Given the description of an element on the screen output the (x, y) to click on. 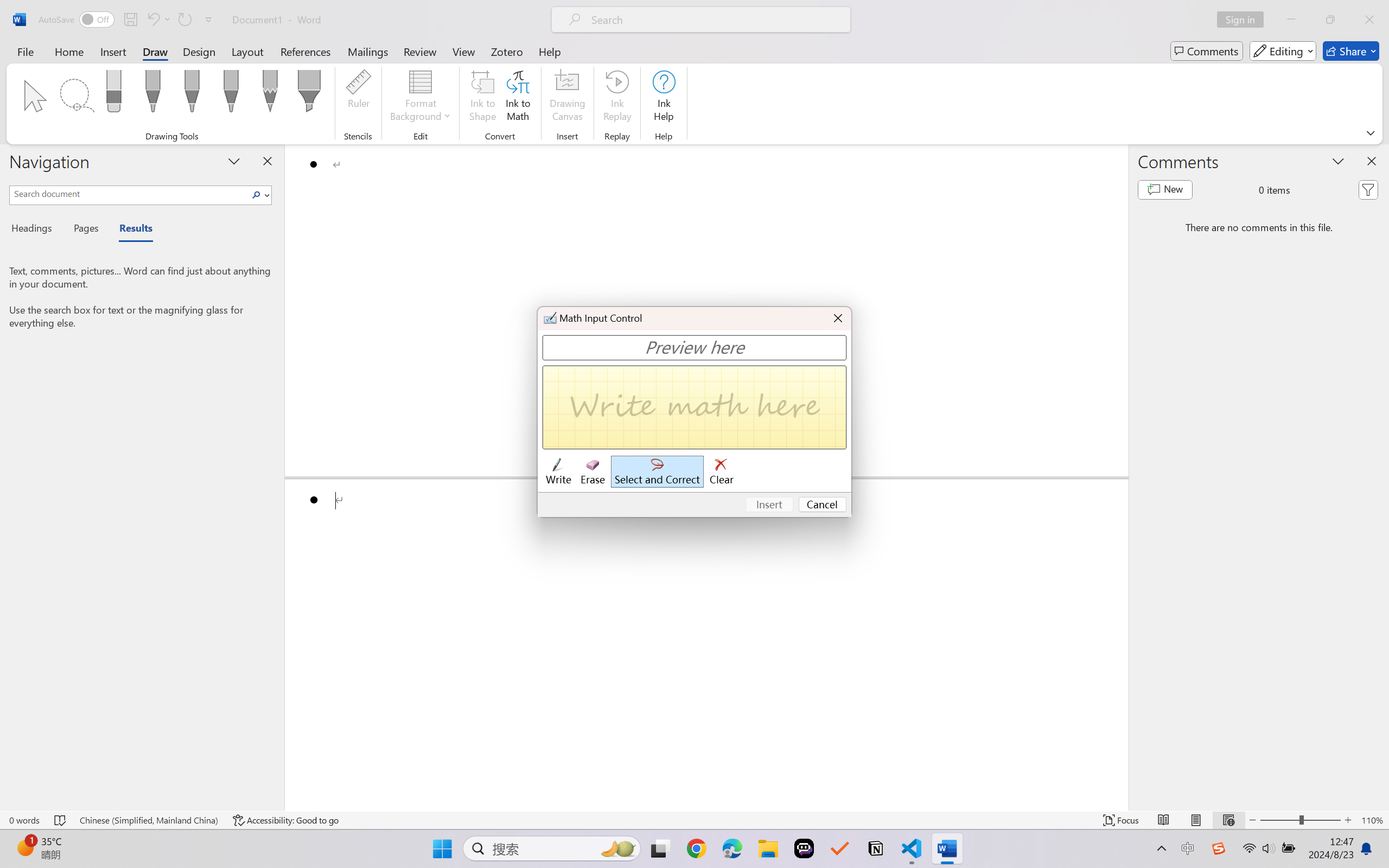
Clear (721, 471)
Erase (592, 471)
Write (558, 471)
Select and Correct (657, 471)
Cancel (822, 504)
